Given the description of an element on the screen output the (x, y) to click on. 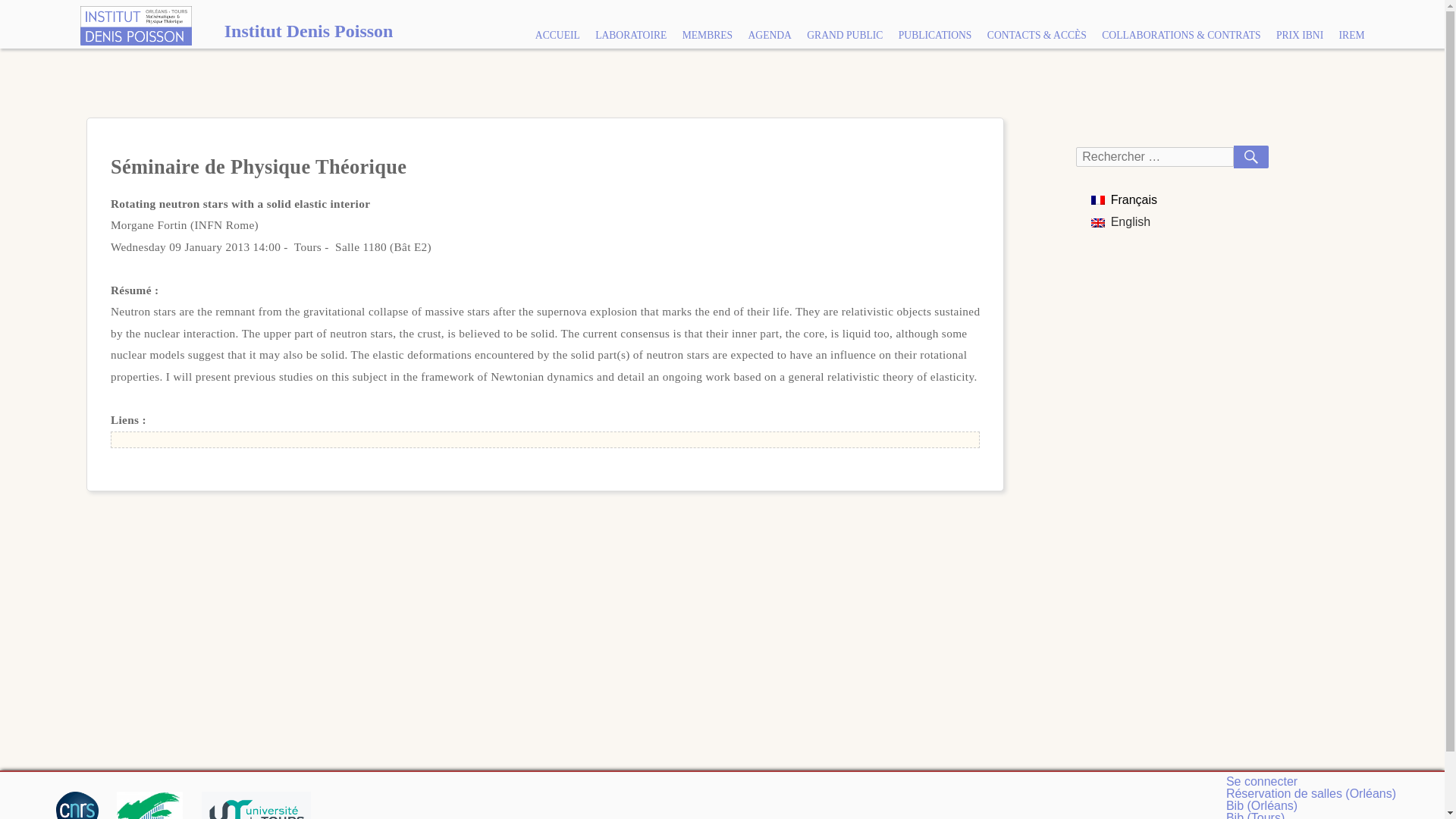
MEMBRES (706, 35)
Se connecter (1261, 780)
Institut Denis Poisson (232, 30)
GRAND PUBLIC (844, 35)
AGENDA (769, 35)
PRIX IBNI (1300, 35)
ACCUEIL (557, 35)
English (1120, 221)
RECHERCHER (1250, 156)
